Given the description of an element on the screen output the (x, y) to click on. 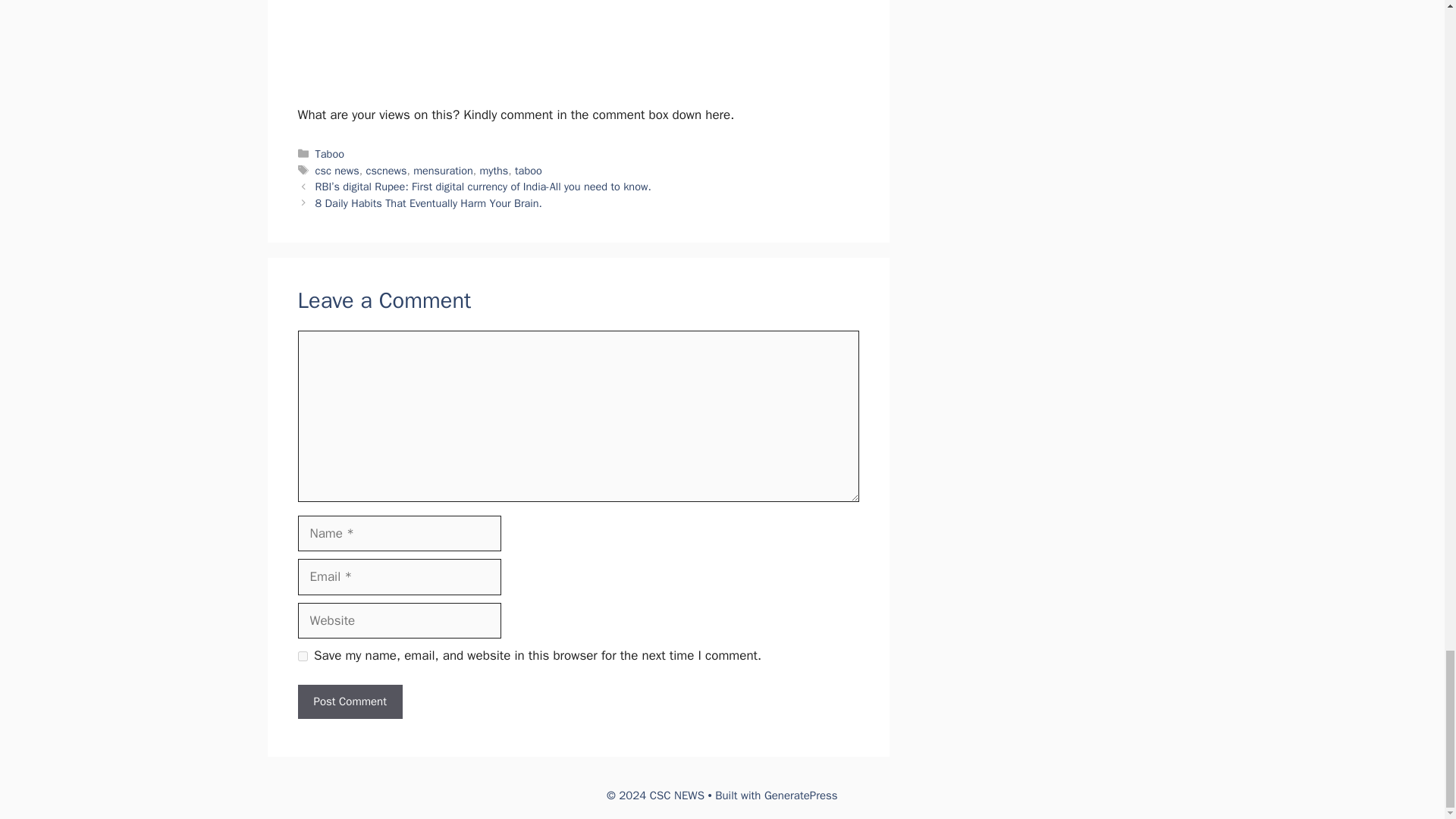
Post Comment (349, 701)
cscnews (386, 170)
mensuration (443, 170)
8 Daily Habits That Eventually Harm Your Brain. (428, 202)
myths (494, 170)
Taboo (329, 153)
csc news (337, 170)
yes (302, 655)
Post Comment (349, 701)
taboo (528, 170)
